Given the description of an element on the screen output the (x, y) to click on. 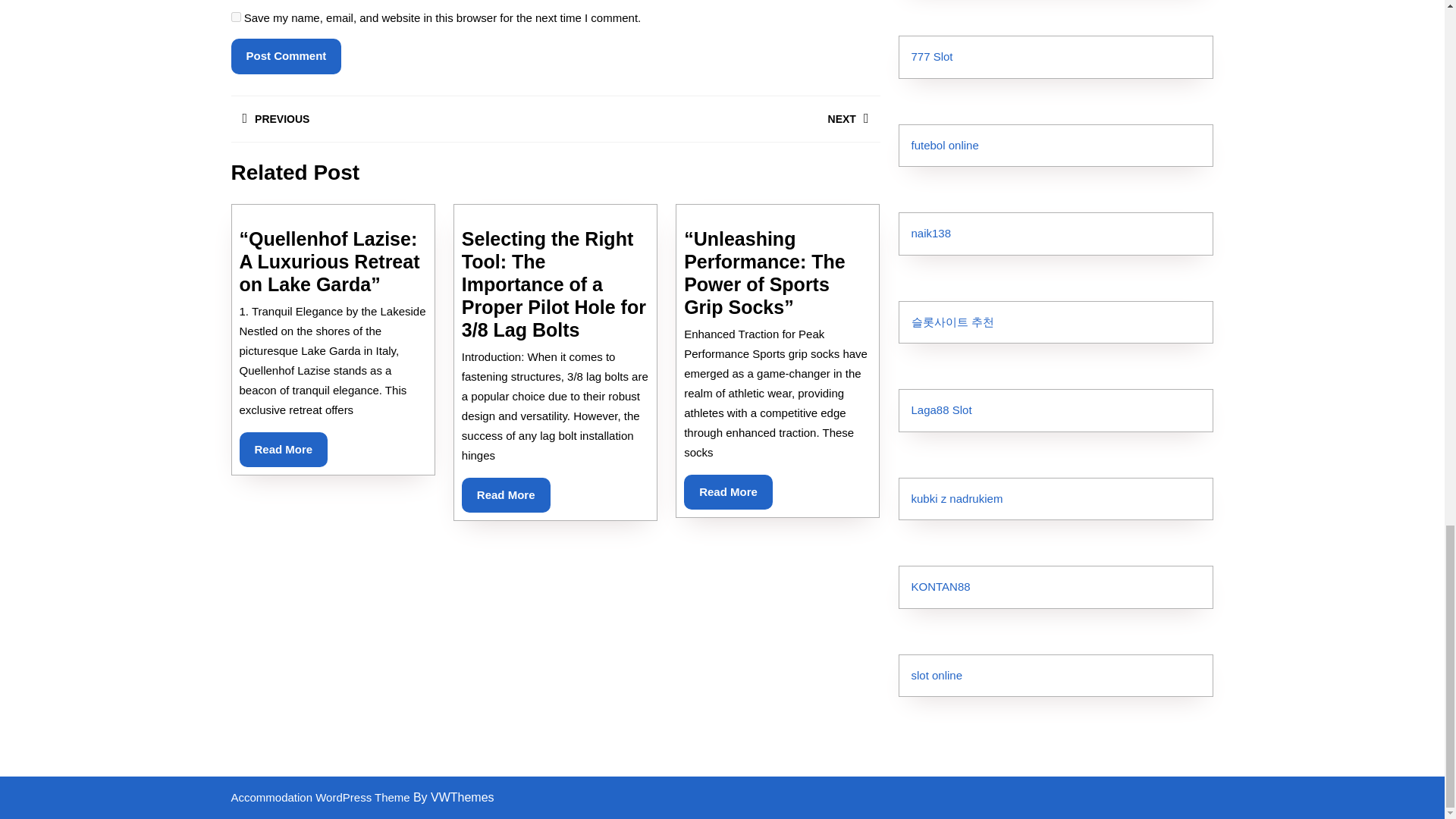
Post Comment (285, 56)
yes (235, 17)
Post Comment (285, 56)
